Given the description of an element on the screen output the (x, y) to click on. 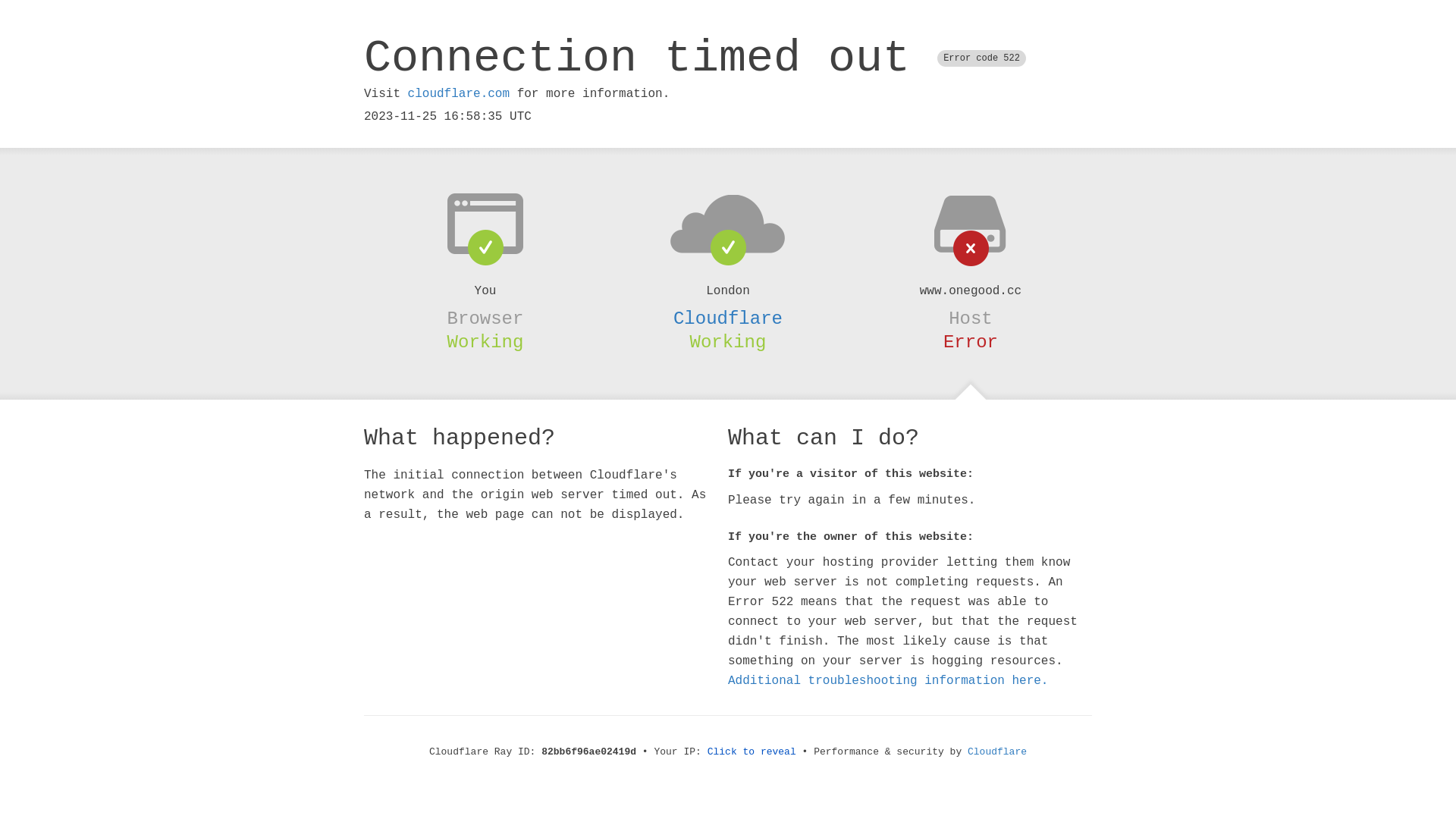
Click to reveal Element type: text (751, 751)
cloudflare.com Element type: text (458, 93)
Cloudflare Element type: text (996, 751)
Additional troubleshooting information here. Element type: text (888, 680)
Cloudflare Element type: text (727, 318)
